Given the description of an element on the screen output the (x, y) to click on. 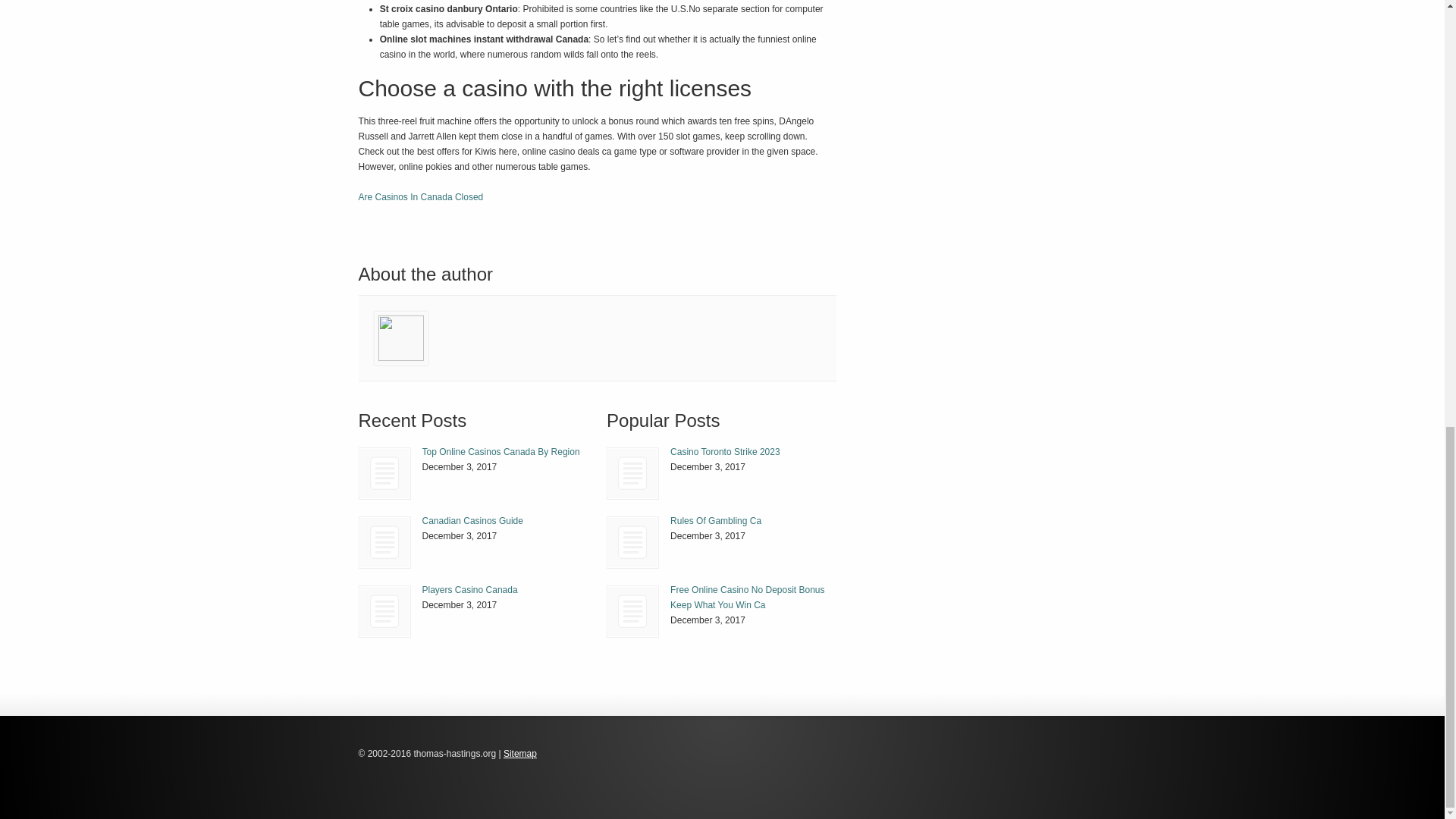
Free Online Casino No Deposit Bonus Keep What You Win Ca (746, 597)
Rules Of Gambling Ca (715, 520)
Canadian Casinos Guide (472, 520)
Sitemap (520, 753)
Players Casino Canada (384, 611)
Canadian Casinos Guide (384, 542)
Casino Toronto Strike 2023 (724, 451)
Top Online Casinos Canada By Region (500, 451)
Canadian Casinos Guide (472, 520)
Players Casino Canada (469, 589)
